Given the description of an element on the screen output the (x, y) to click on. 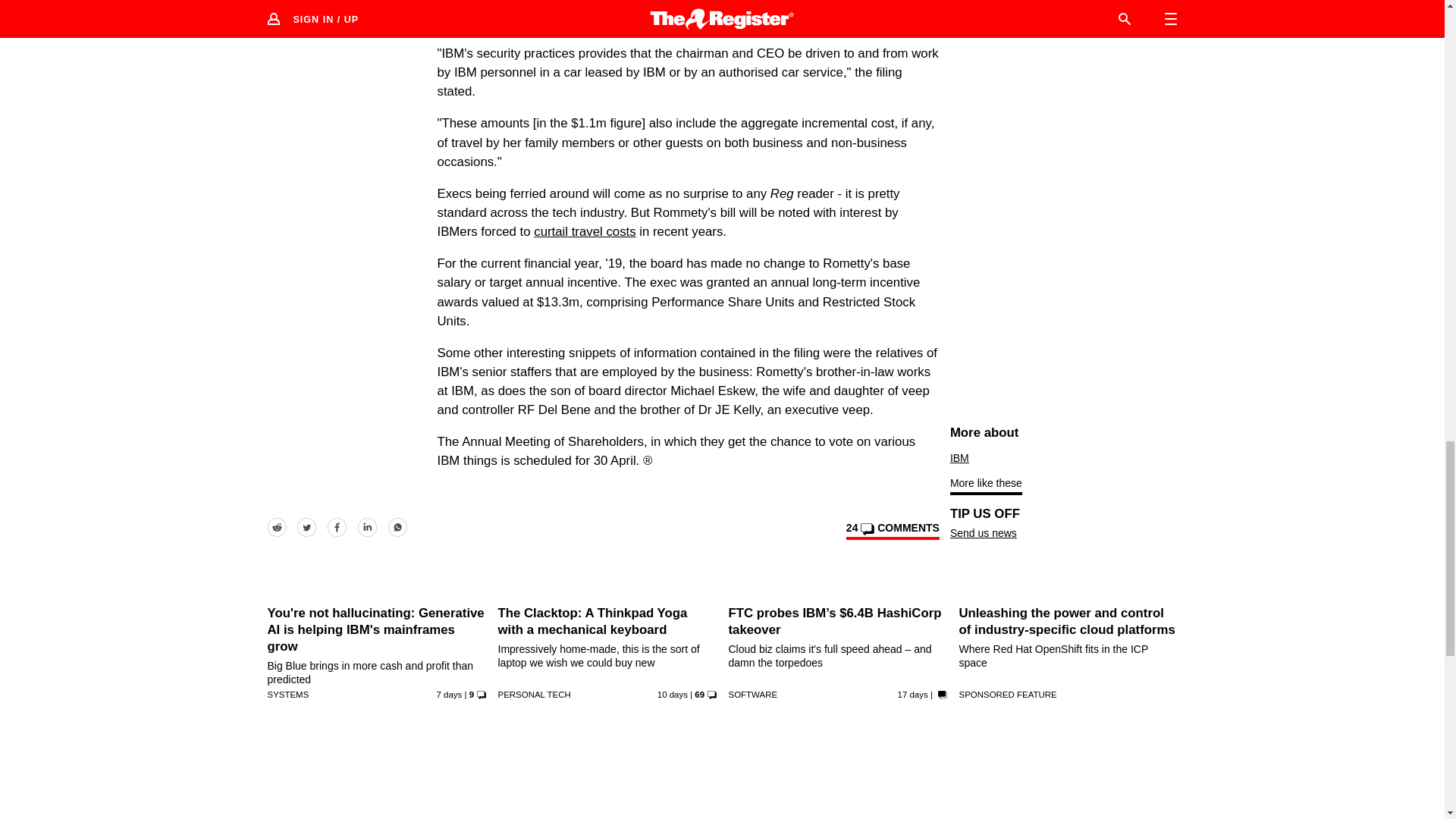
25 Jul 2024 6:33 (449, 694)
View comments on this article (892, 530)
22 Jul 2024 11:15 (672, 694)
15 Jul 2024 19:20 (913, 694)
